Given the description of an element on the screen output the (x, y) to click on. 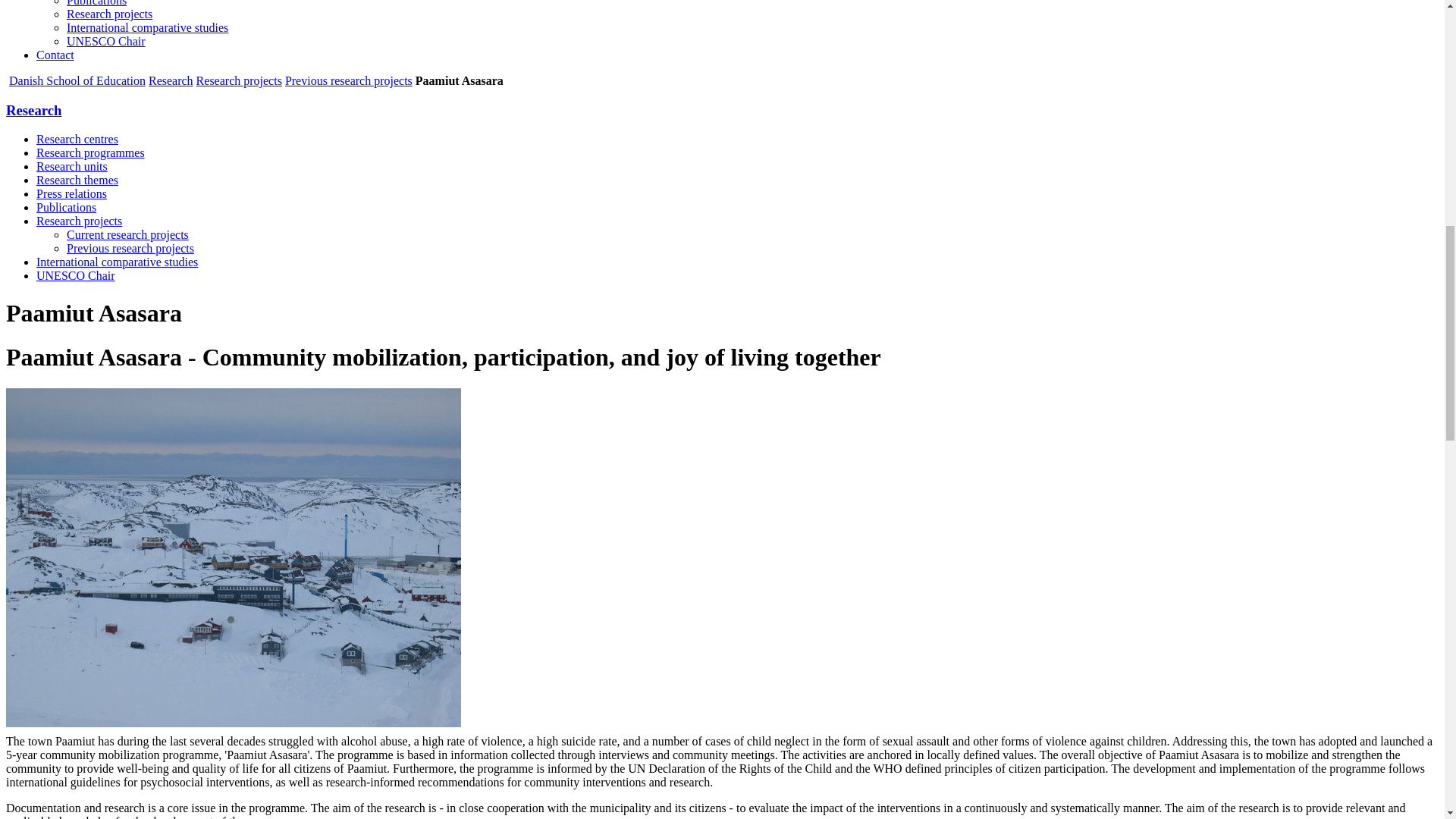
Research (33, 109)
Publications (96, 3)
Research projects (109, 13)
Research projects (239, 80)
UNESCO Chair (105, 41)
Previous research projects (348, 80)
Danish School of Education (76, 80)
Research (170, 80)
Contact (55, 54)
International comparative studies (147, 27)
